Given the description of an element on the screen output the (x, y) to click on. 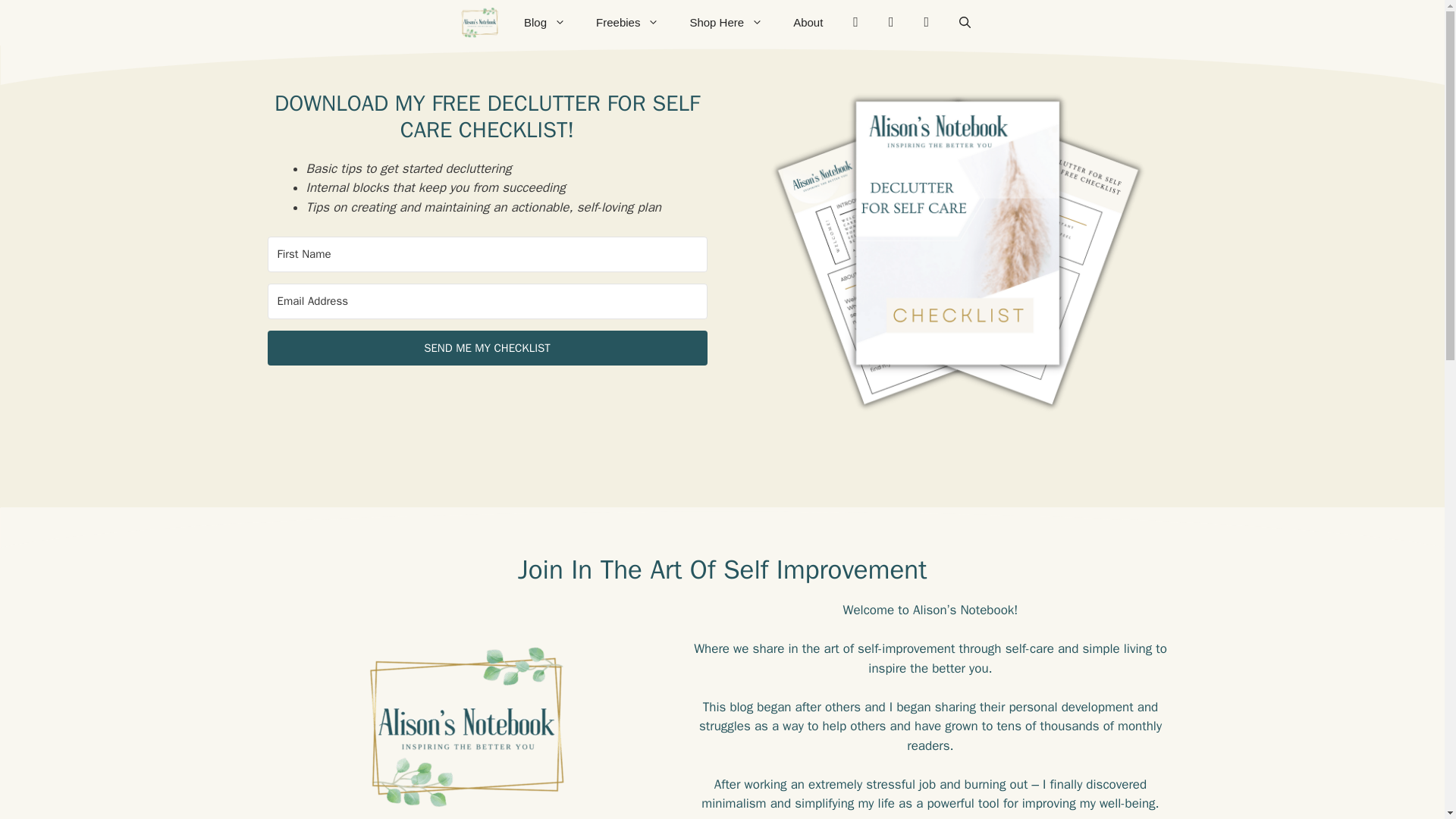
Shop Here (725, 22)
Alison's Notebook (479, 22)
Freebies (627, 22)
About (807, 22)
Blog (544, 22)
SEND ME MY CHECKLIST (486, 348)
